Given the description of an element on the screen output the (x, y) to click on. 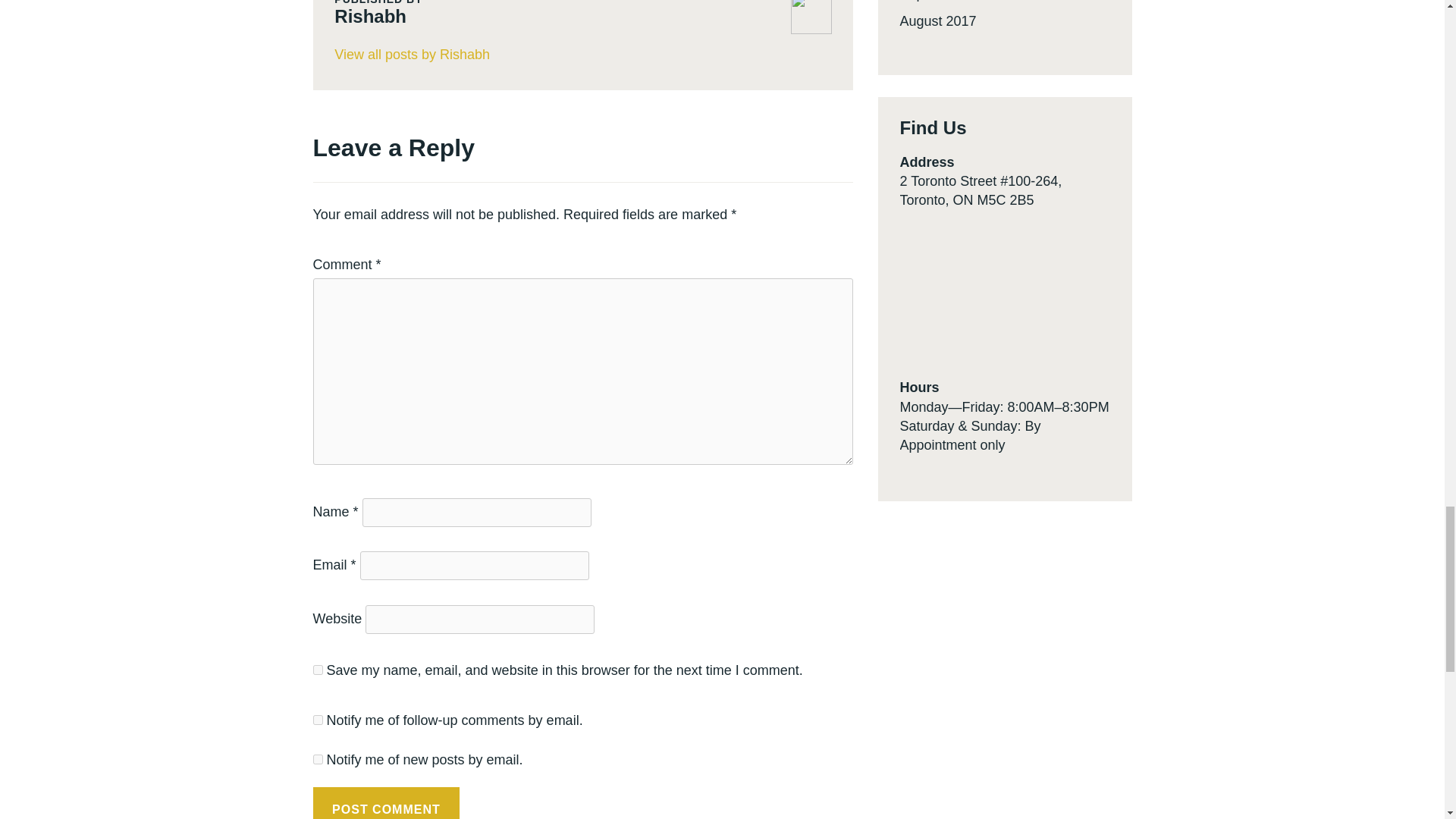
yes (317, 669)
Post Comment (386, 803)
subscribe (317, 759)
Post Comment (386, 803)
subscribe (317, 719)
View all posts by Rishabh (582, 54)
